Given the description of an element on the screen output the (x, y) to click on. 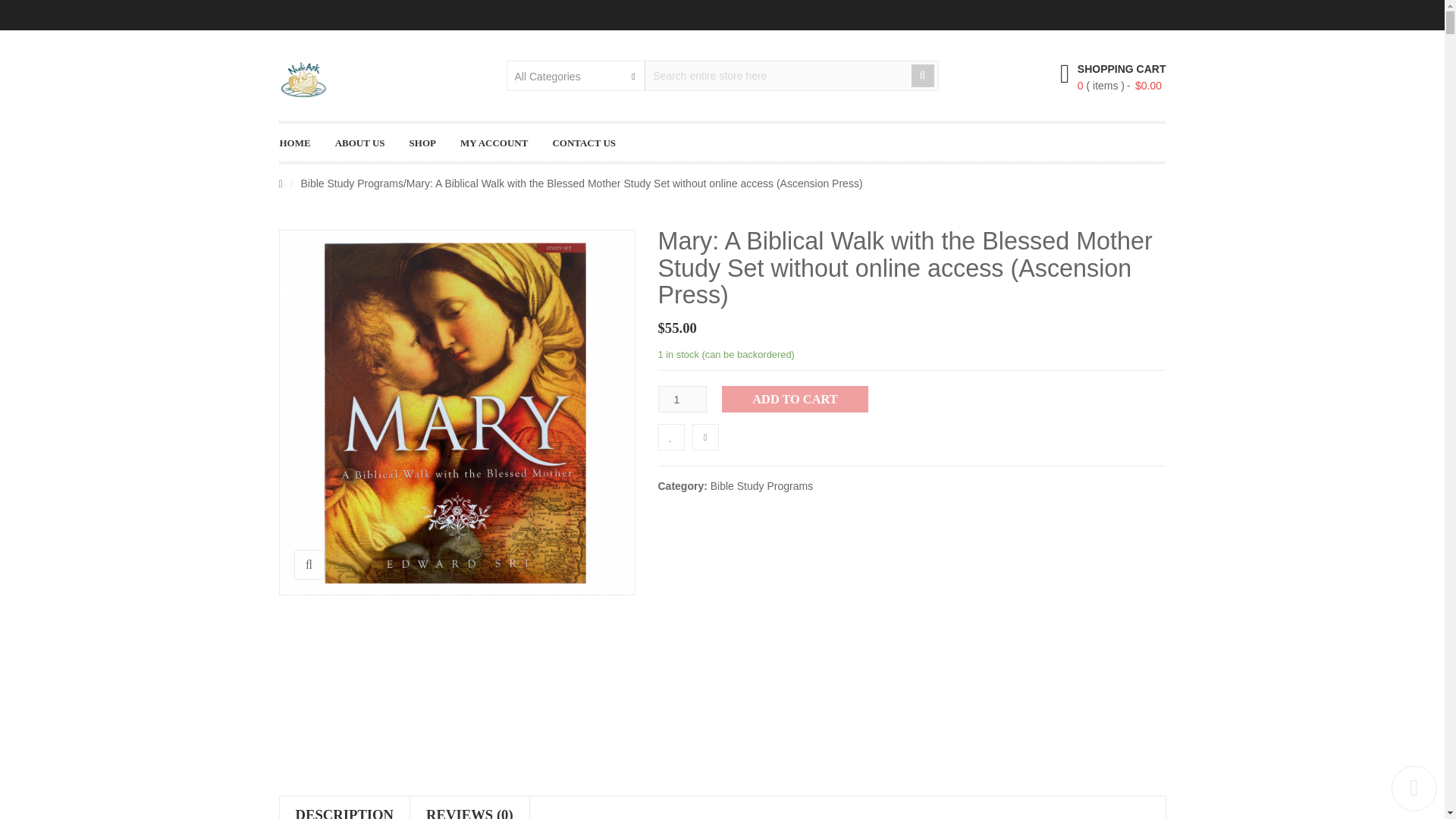
COMPARE (704, 437)
HOME (302, 142)
SHOP (430, 142)
Bible Study Programs (352, 183)
noahsark.sg (304, 79)
Bible Study Programs (761, 485)
MY ACCOUNT (501, 142)
CONTACT US (591, 142)
DESCRIPTION (344, 807)
ABOUT US (367, 142)
